Given the description of an element on the screen output the (x, y) to click on. 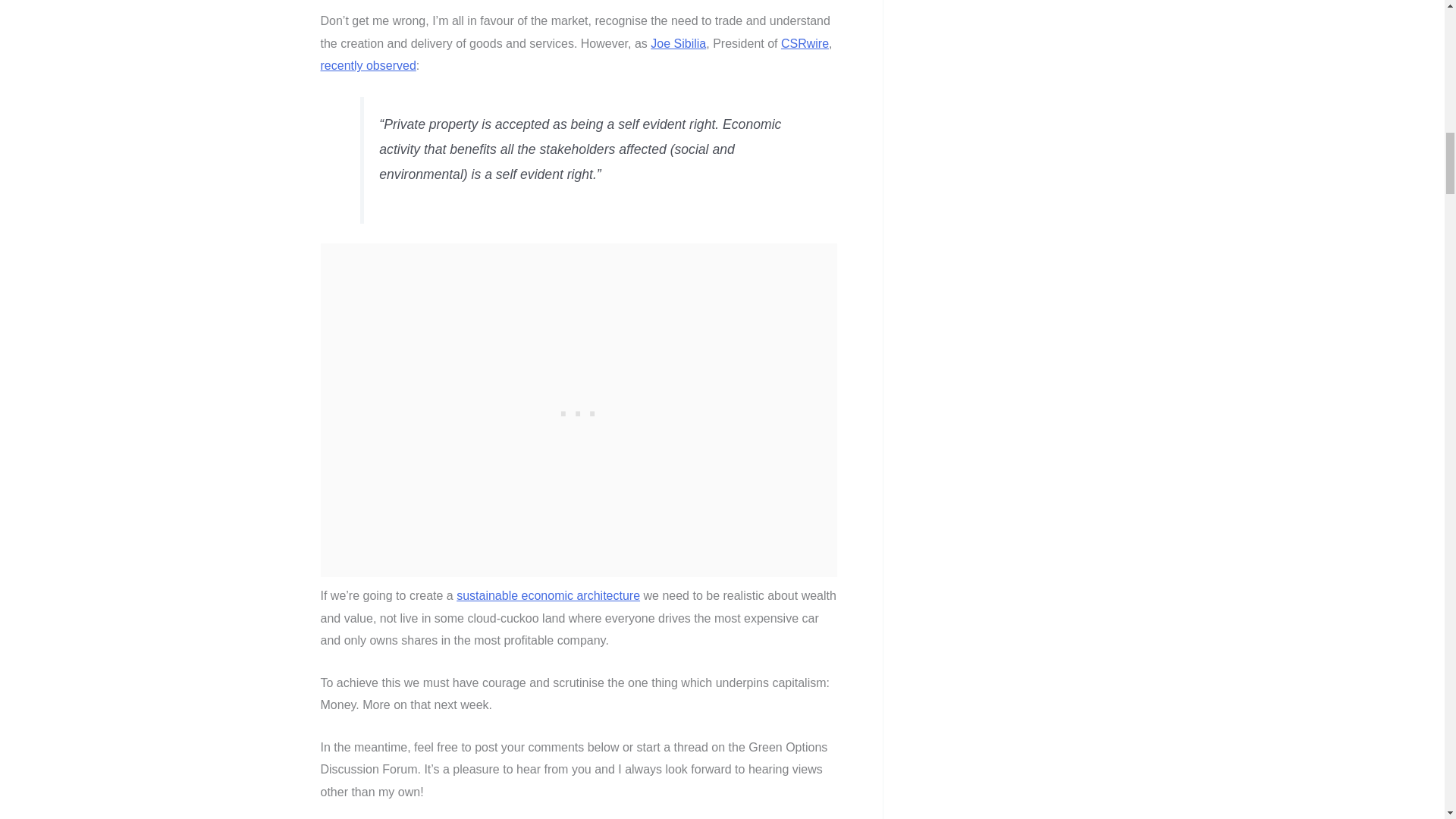
New Economic Architecture Required (548, 594)
About Joe Sibilia (678, 42)
CSRwire (804, 42)
Joe Sibilia (678, 42)
Taxpayers bailing out investment bankers? It's crazy! (367, 65)
CSR Newswire (804, 42)
